Given the description of an element on the screen output the (x, y) to click on. 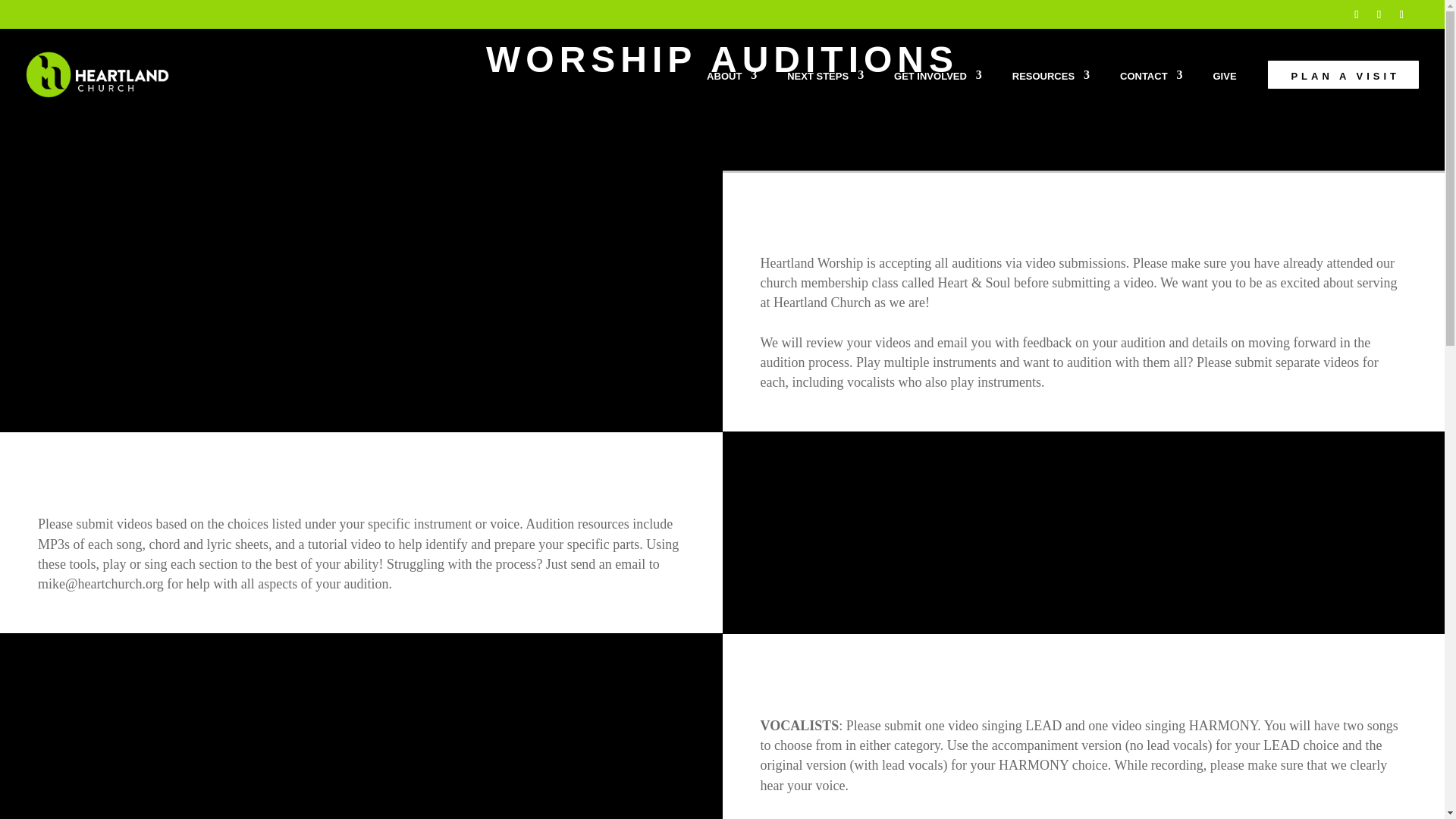
ABOUT (731, 94)
PLAN A VISIT (1343, 92)
CONTACT (1150, 94)
NEXT STEPS (825, 94)
GET INVOLVED (937, 94)
RESOURCES (1050, 94)
